Given the description of an element on the screen output the (x, y) to click on. 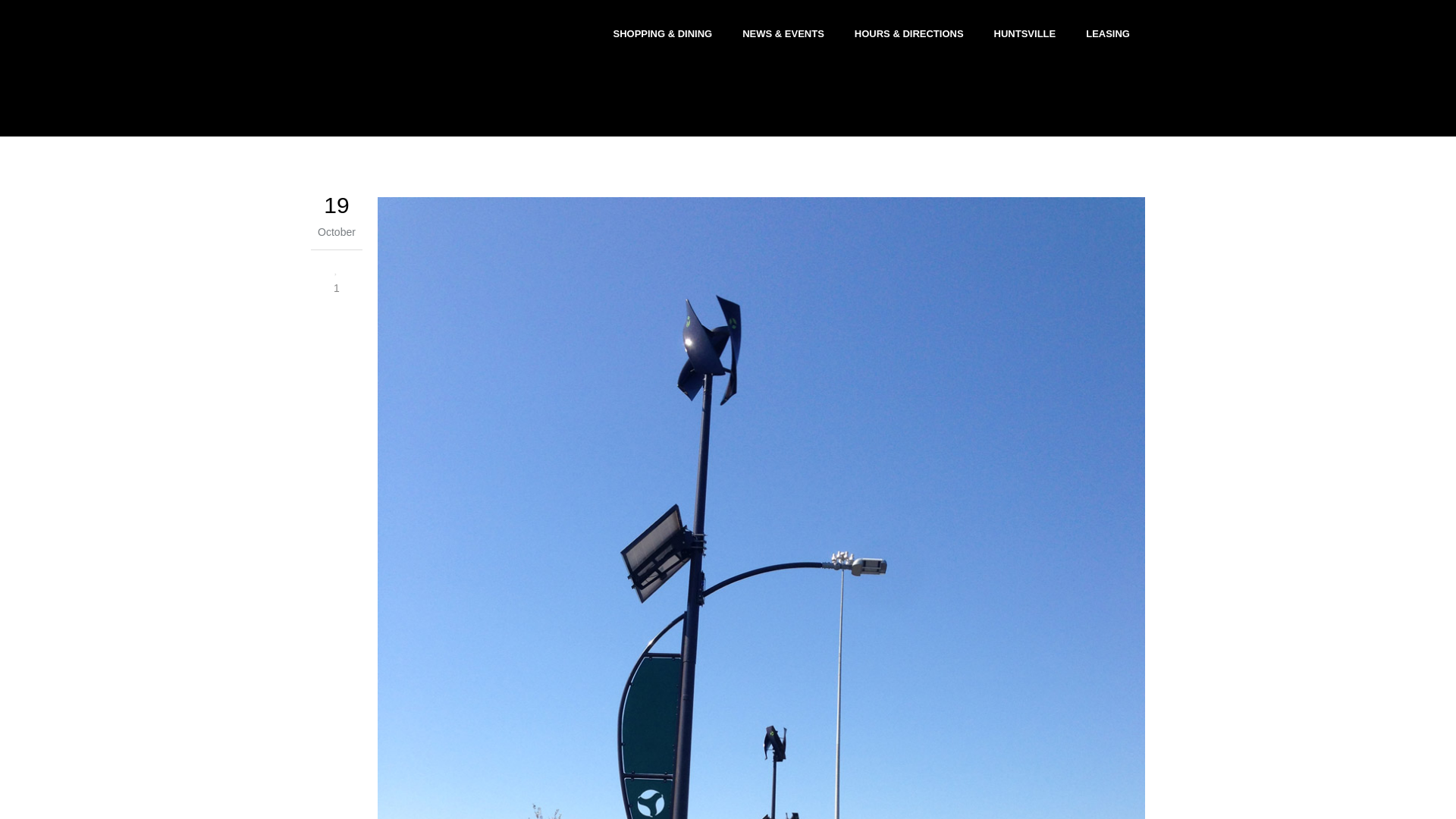
HUNTSVILLE (1024, 33)
1 (336, 277)
LEASING (1107, 33)
Like this (336, 277)
